Given the description of an element on the screen output the (x, y) to click on. 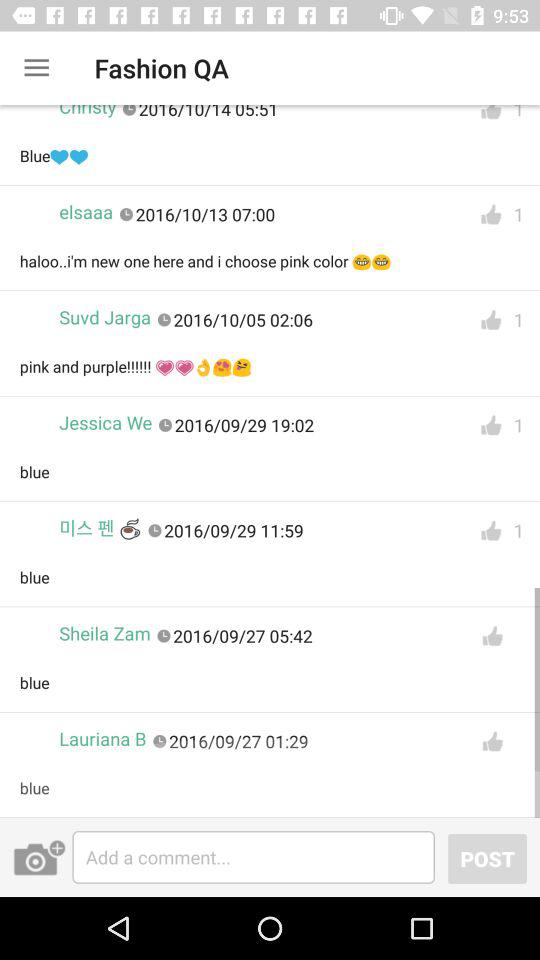
comment field (253, 857)
